Given the description of an element on the screen output the (x, y) to click on. 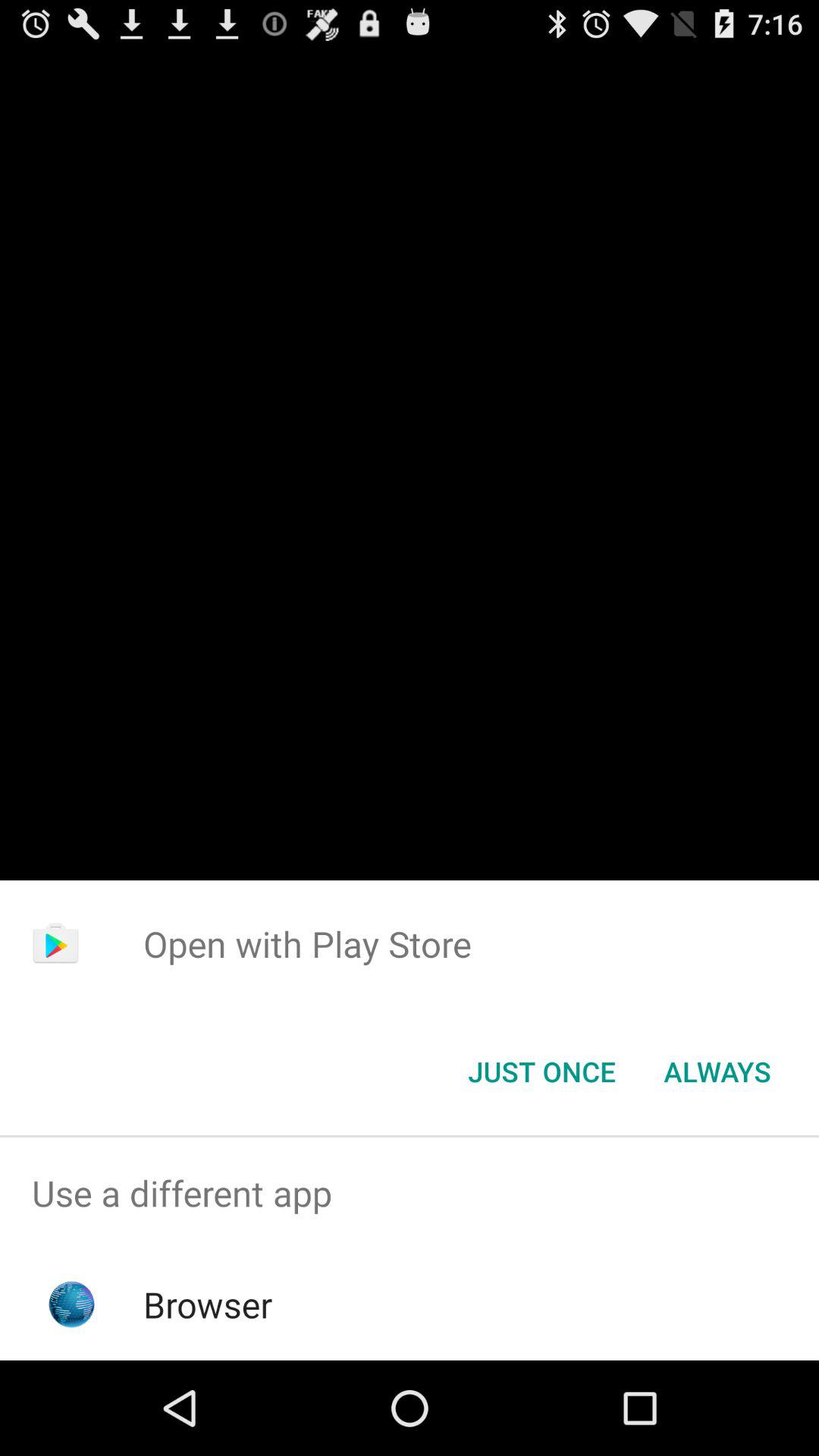
flip until the just once (541, 1071)
